Given the description of an element on the screen output the (x, y) to click on. 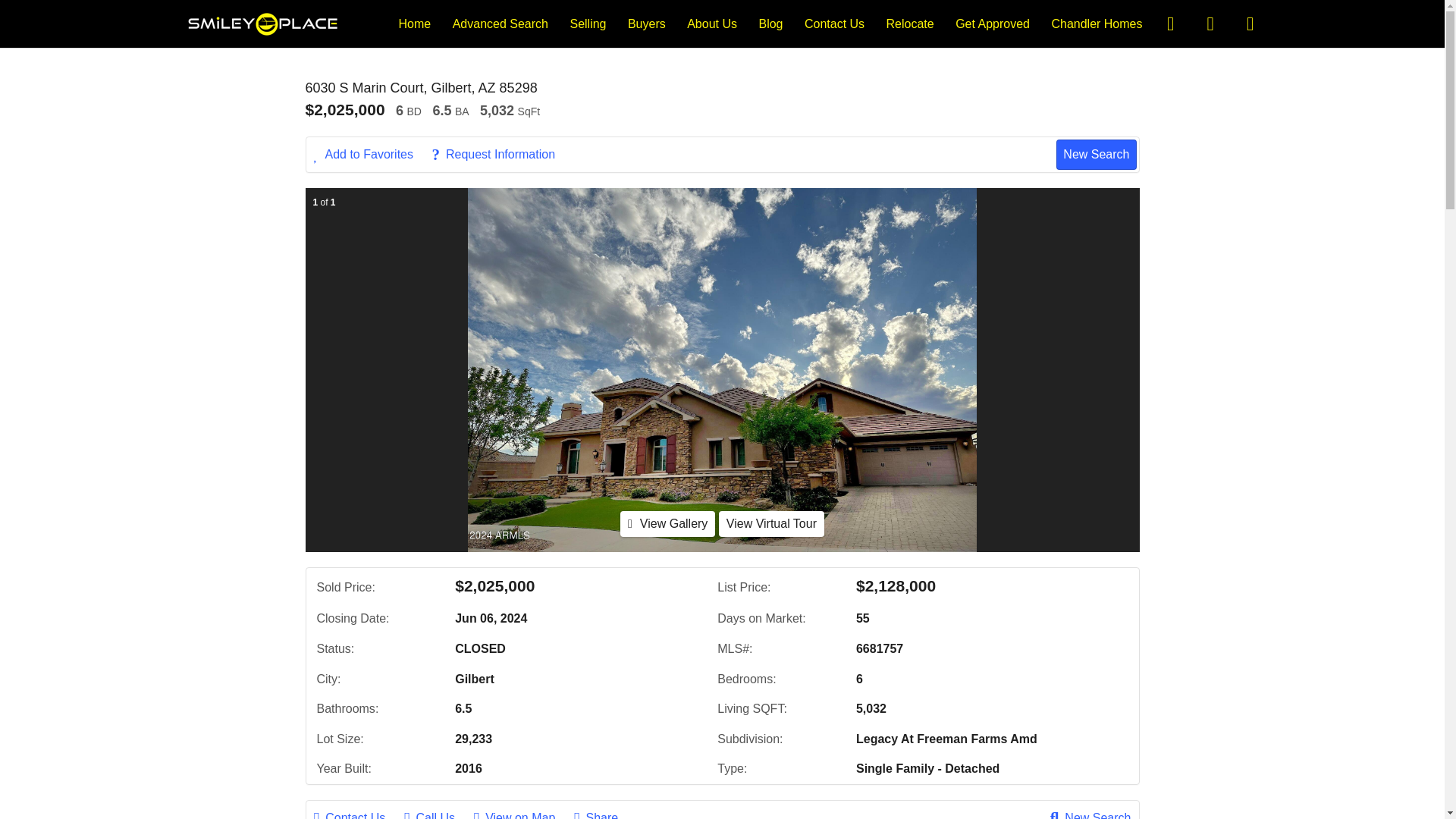
Share (603, 812)
Request Information (500, 154)
View Virtual Tour (771, 522)
Call Us (437, 812)
New Search (1090, 812)
About Us (711, 23)
View Virtual Tour (771, 524)
Get Approved (992, 23)
Home (414, 23)
Contact Us (834, 23)
Contact Us (357, 812)
View Gallery (667, 524)
Selling (587, 23)
Chandler Homes (1096, 23)
View Gallery (667, 522)
